Given the description of an element on the screen output the (x, y) to click on. 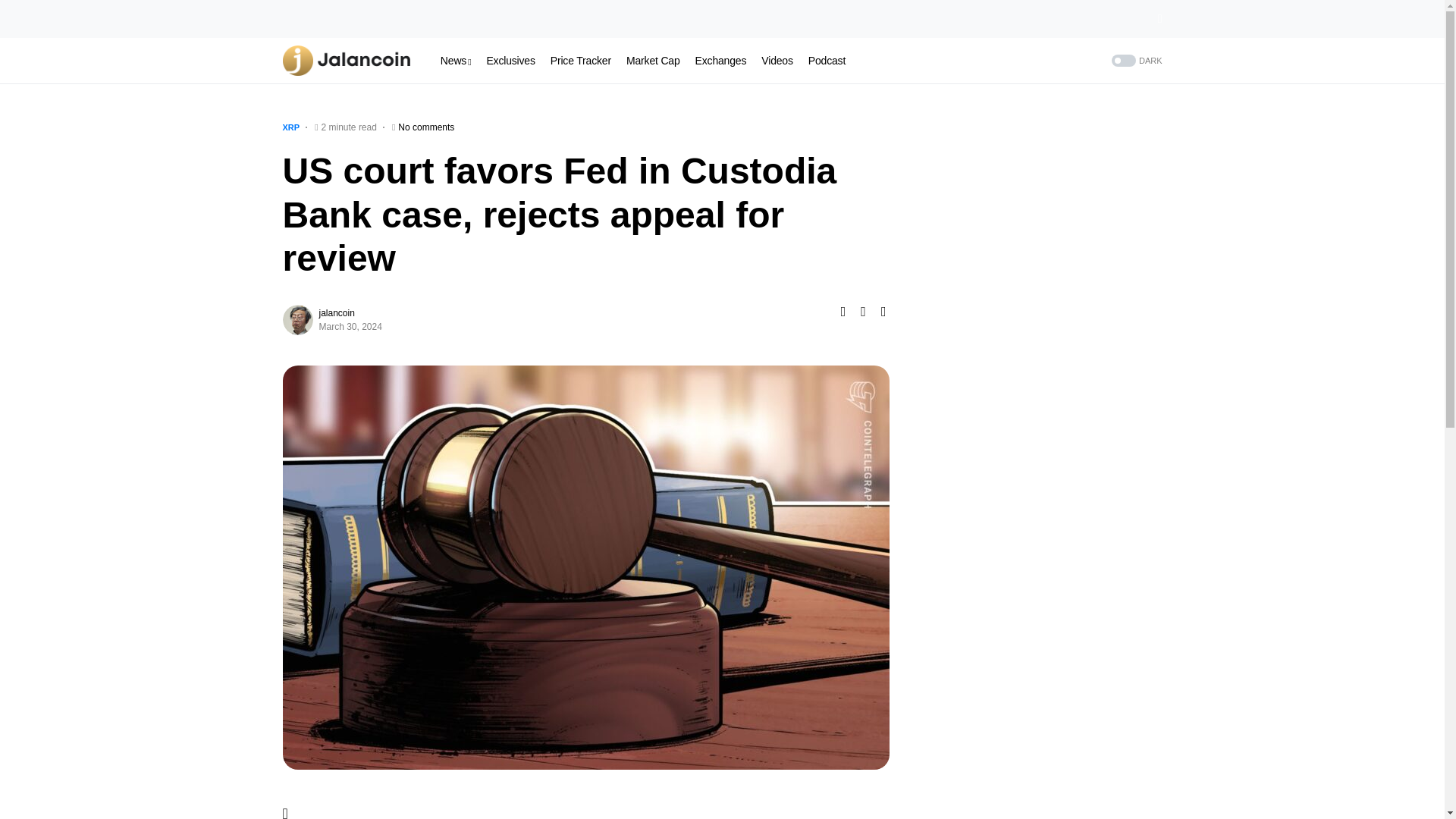
Exclusives (510, 60)
Market Cap (652, 60)
Price Tracker (580, 60)
Exchanges (720, 60)
